Given the description of an element on the screen output the (x, y) to click on. 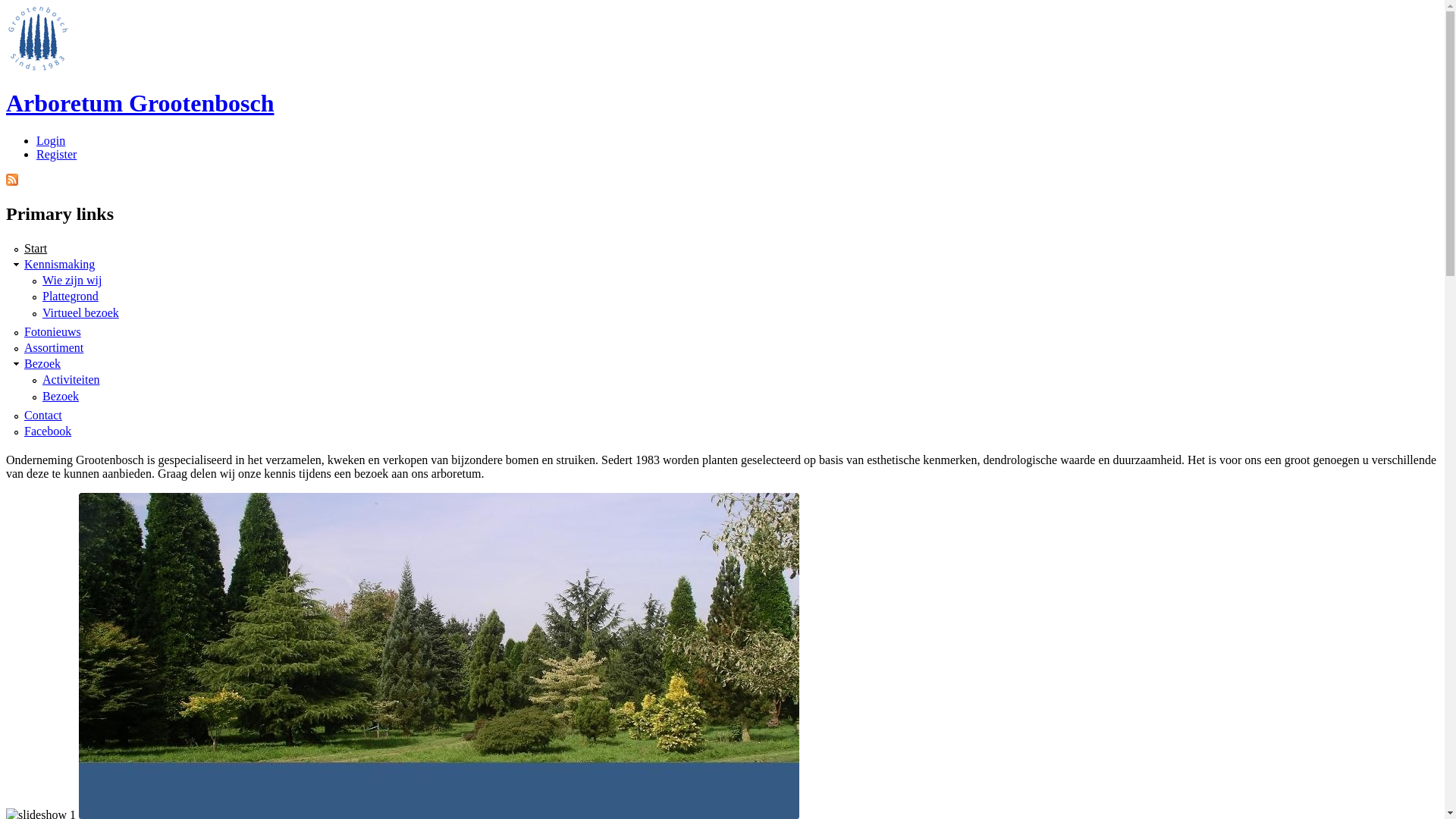
Bezoek Element type: text (42, 363)
Login Element type: text (50, 140)
Virtueel bezoek Element type: text (80, 312)
Fotonieuws Element type: text (52, 331)
Wie zijn wij Element type: text (71, 279)
Activiteiten Element type: text (71, 379)
Assortiment Element type: text (53, 347)
Home Element type: hover (38, 65)
Start Element type: text (35, 247)
Plattegrond Element type: text (70, 295)
Arboretum Grootenbosch  RSS Element type: hover (12, 179)
Bezoek Element type: text (60, 395)
Register Element type: text (56, 153)
Arboretum Grootenbosch Element type: text (139, 102)
Kennismaking Element type: text (59, 263)
Facebook Element type: text (47, 430)
Contact Element type: text (43, 414)
